Given the description of an element on the screen output the (x, y) to click on. 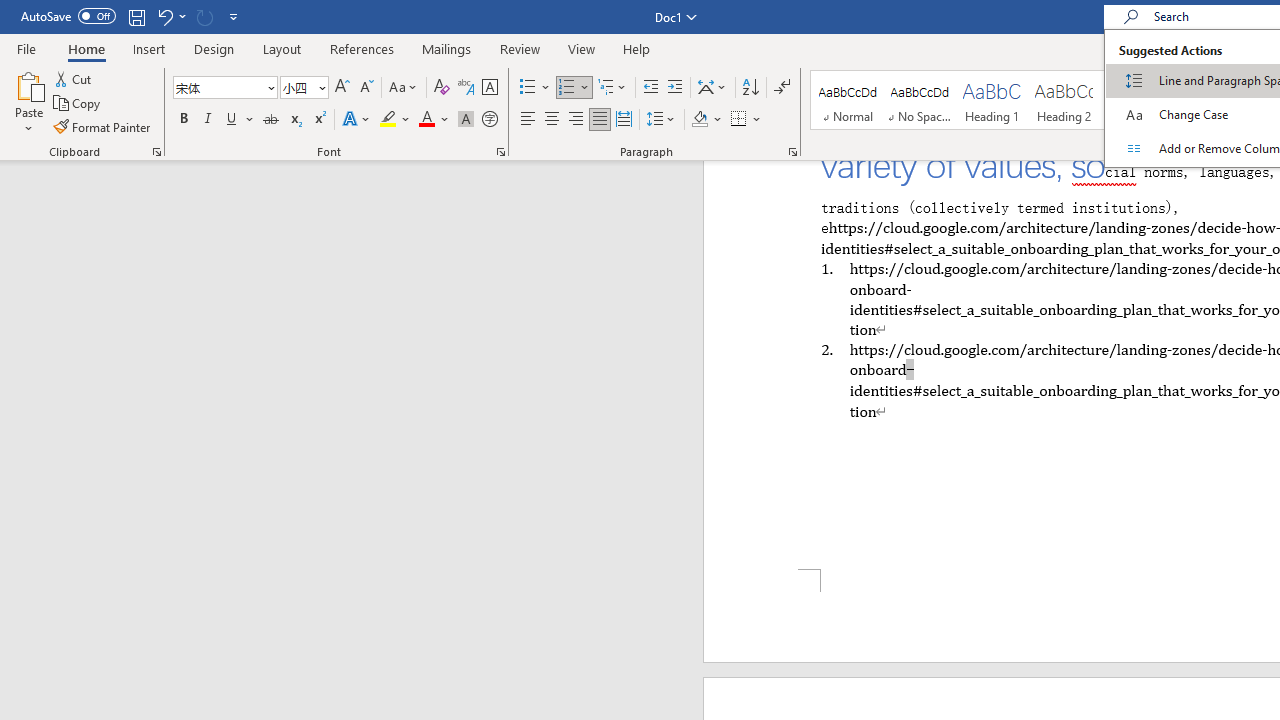
Review (520, 48)
Numbering (573, 87)
Increase Indent (675, 87)
Multilevel List (613, 87)
Text Highlight Color Yellow (388, 119)
Heading 3 (1135, 100)
Grow Font (342, 87)
Quick Access Toolbar (131, 16)
Undo Apply Quick Style (164, 15)
Strikethrough (270, 119)
System (10, 11)
Heading 1 (991, 100)
Borders (739, 119)
Bullets (535, 87)
Paste (28, 84)
